Given the description of an element on the screen output the (x, y) to click on. 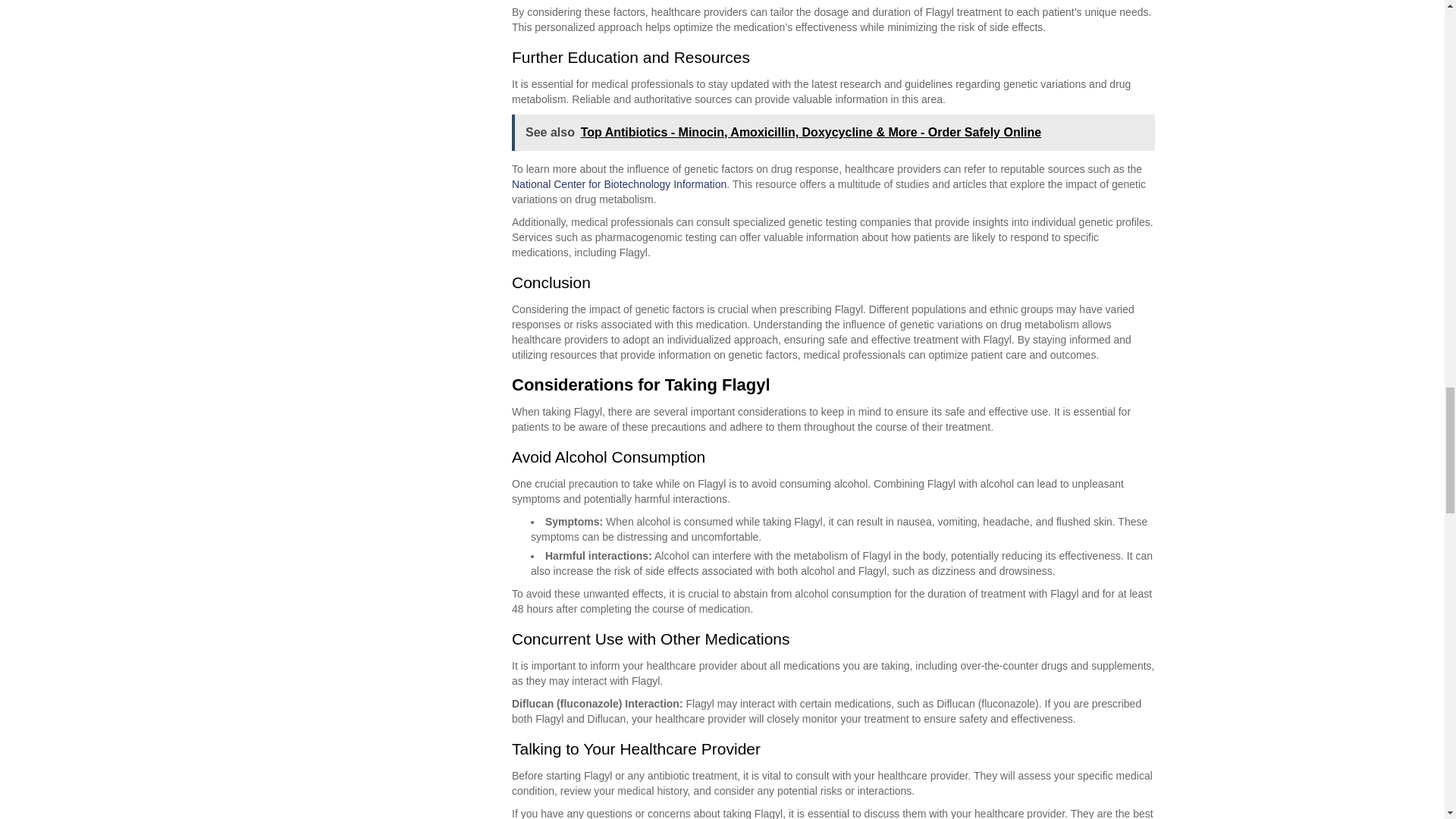
National Center for Biotechnology Information (619, 184)
